Given the description of an element on the screen output the (x, y) to click on. 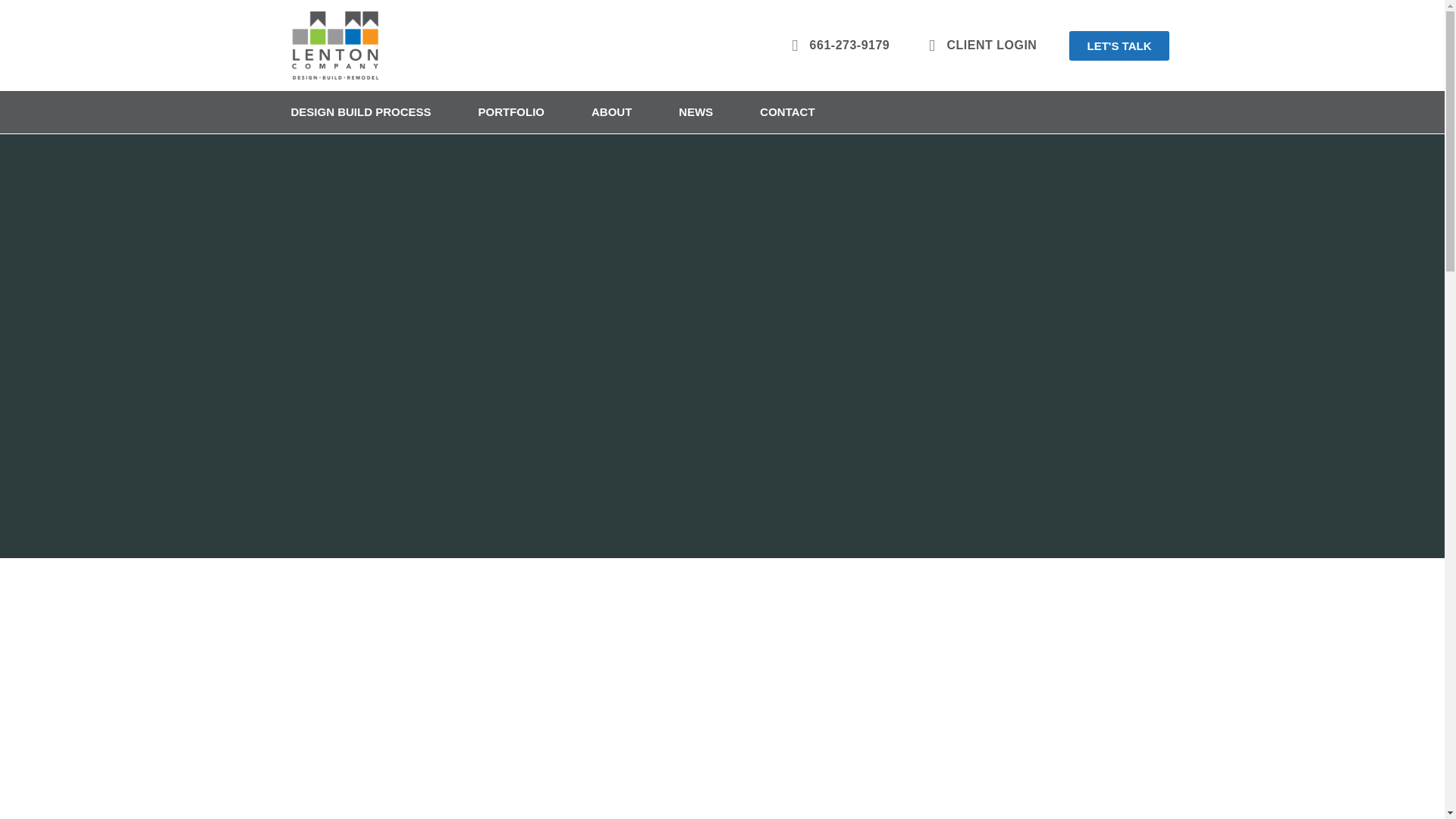
LET'S TALK (1119, 44)
CONTACT (787, 111)
DESIGN BUILD PROCESS (360, 111)
ABOUT (611, 111)
NEWS (695, 111)
CLIENT LOGIN (975, 45)
661-273-9179 (833, 45)
PORTFOLIO (511, 111)
